Given the description of an element on the screen output the (x, y) to click on. 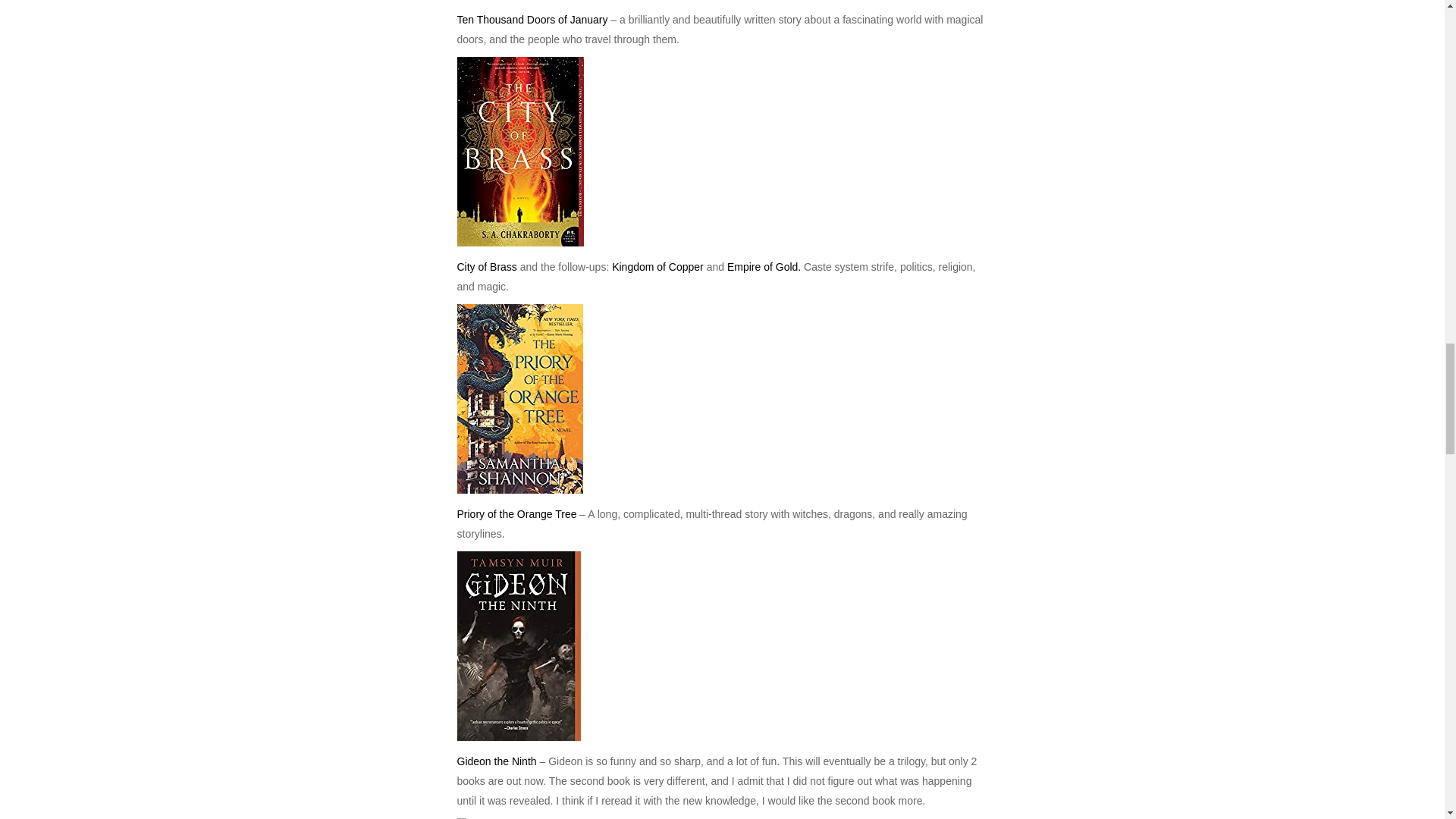
City of Brass (486, 266)
Kingdom of Copper (658, 266)
Priory of the Orange Tree (516, 513)
Empire of Gold. (764, 266)
Ten Thousand Doors of January (532, 19)
Gideon the Ninth (496, 761)
